Given the description of an element on the screen output the (x, y) to click on. 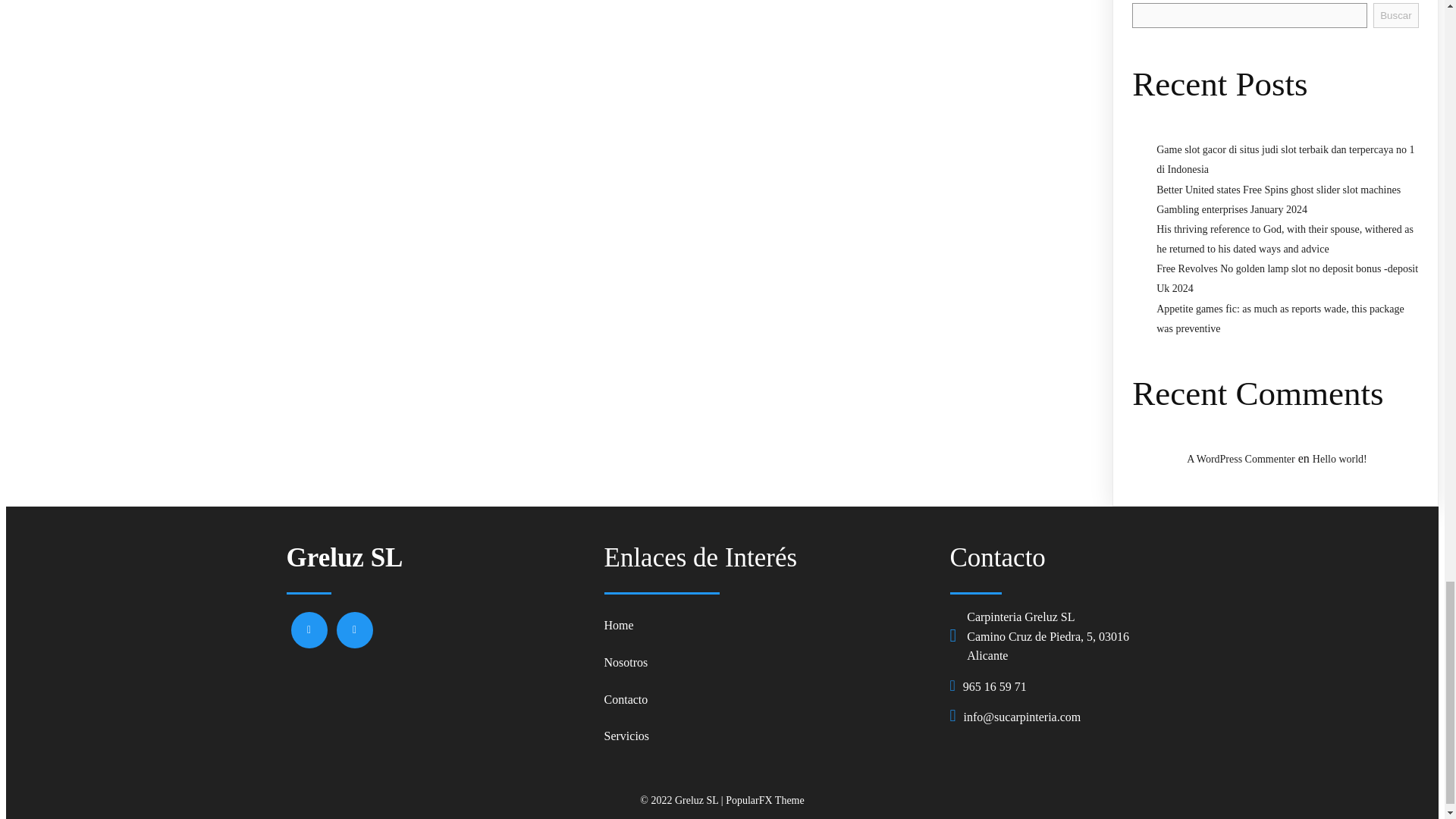
Nosotros (769, 661)
Hello world! (1340, 459)
Greluz SL (437, 558)
Contacto (769, 699)
PopularFX Theme (765, 799)
A WordPress Commenter (1240, 459)
Buscar (1395, 15)
